Given the description of an element on the screen output the (x, y) to click on. 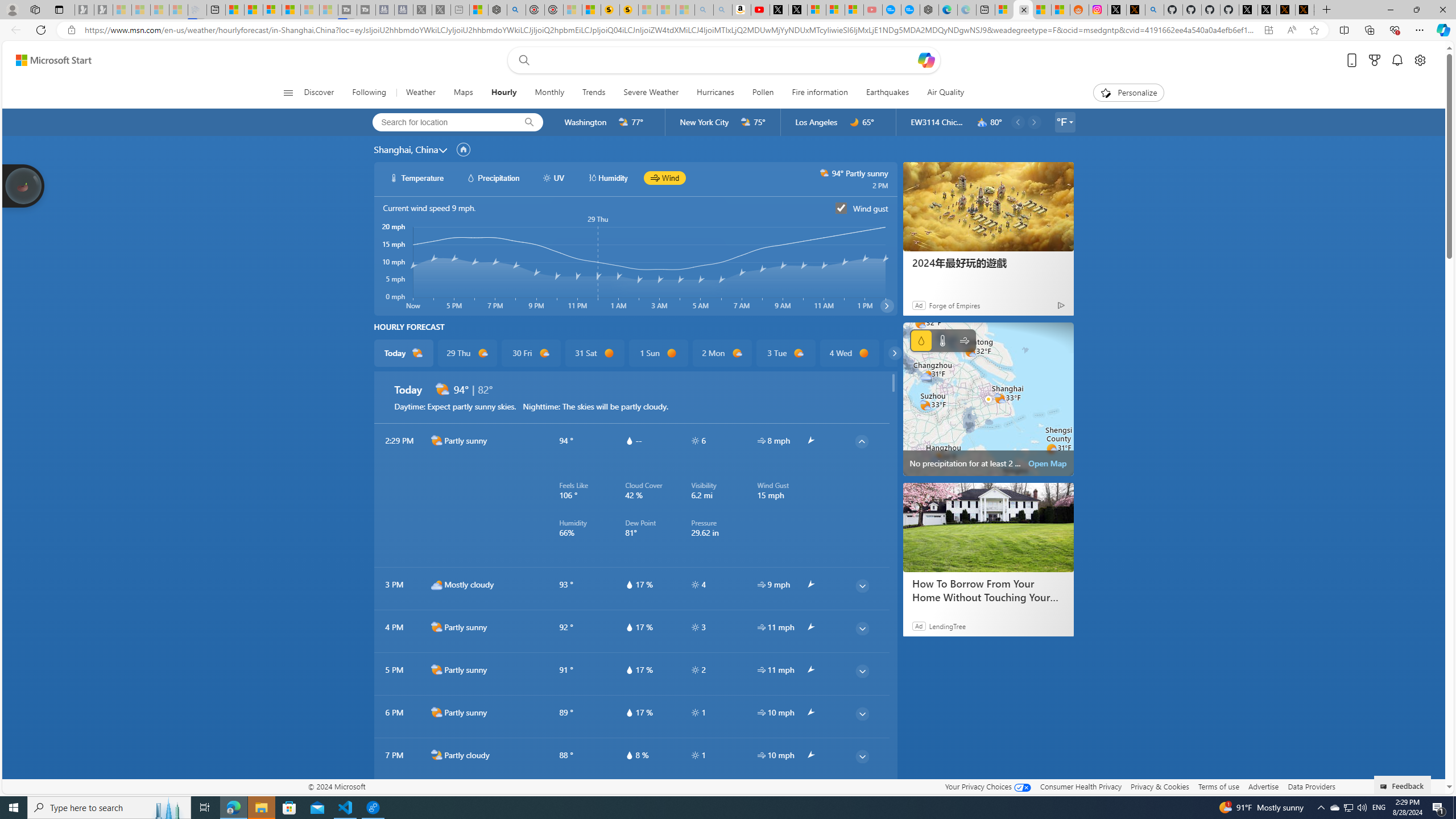
Your Privacy Choices (987, 785)
poe - Search (515, 9)
2 Mon d1000 (721, 352)
To get missing image descriptions, open the context menu. (1105, 92)
Class: button-glyph (287, 92)
Monthly (549, 92)
n2000 (436, 797)
